Given the description of an element on the screen output the (x, y) to click on. 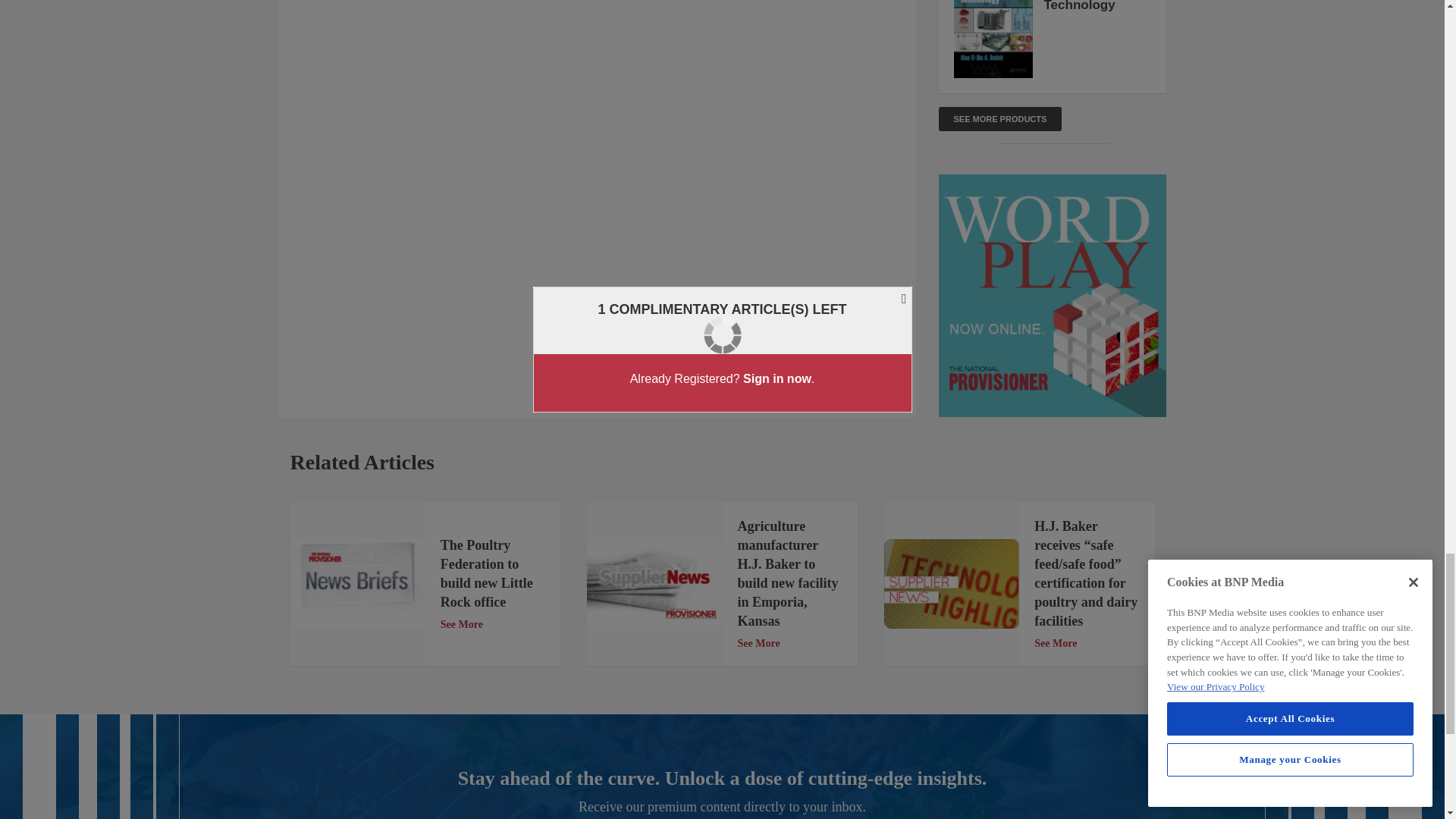
News Brief Feature (357, 583)
Supplier News Logo Feature (951, 583)
Supplier News (654, 583)
